Given the description of an element on the screen output the (x, y) to click on. 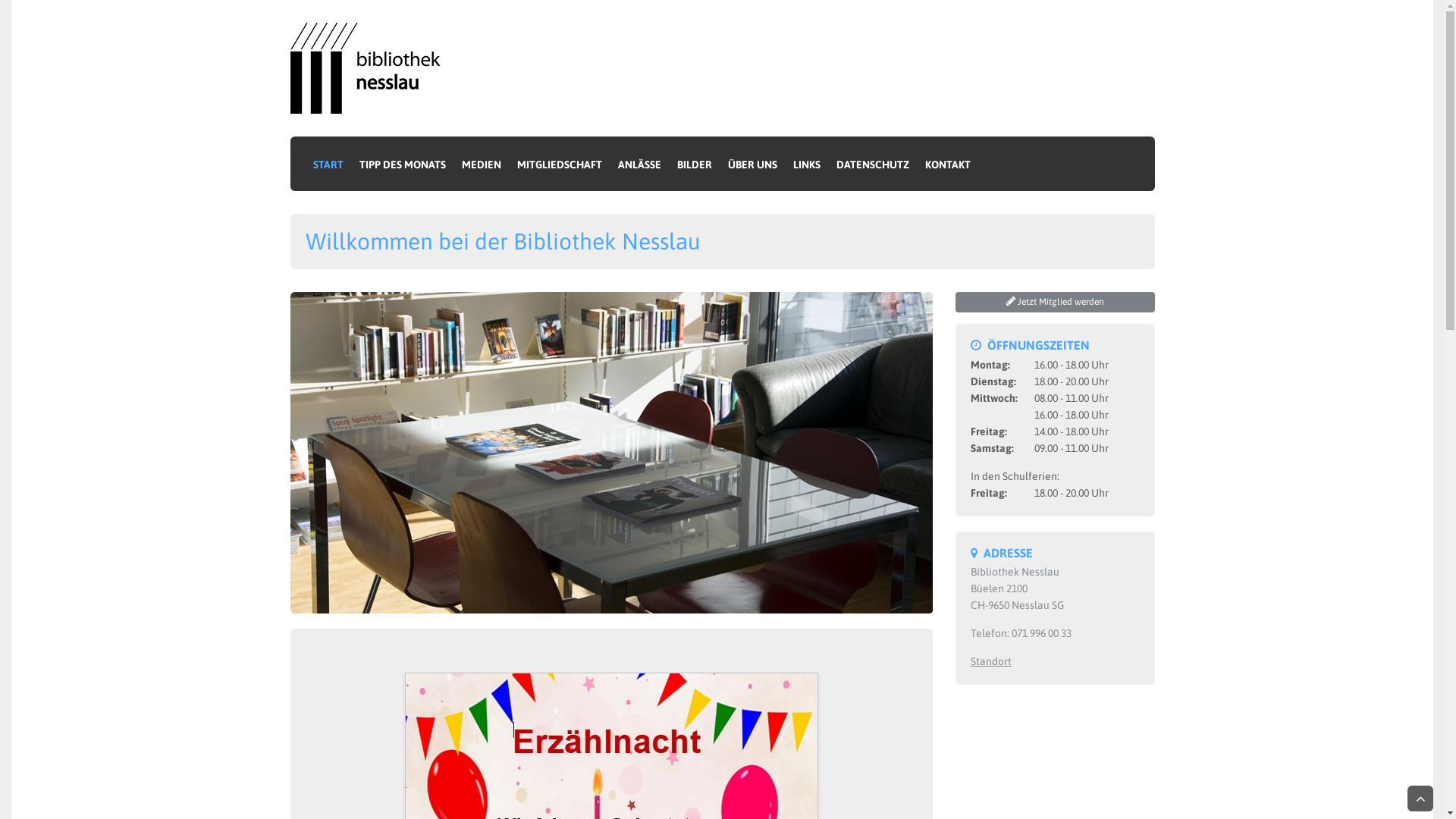
BILDER Element type: text (693, 163)
TIPP DES MONATS Element type: text (402, 163)
MITGLIEDSCHAFT Element type: text (559, 163)
LINKS Element type: text (806, 163)
Standort Element type: text (990, 661)
Jetzt Mitglied werden Element type: text (1054, 301)
START Element type: text (327, 163)
MEDIEN Element type: text (480, 163)
KONTAKT Element type: text (944, 163)
Bibliothek Nesslau Element type: hover (369, 67)
DATENSCHUTZ Element type: text (872, 163)
